Given the description of an element on the screen output the (x, y) to click on. 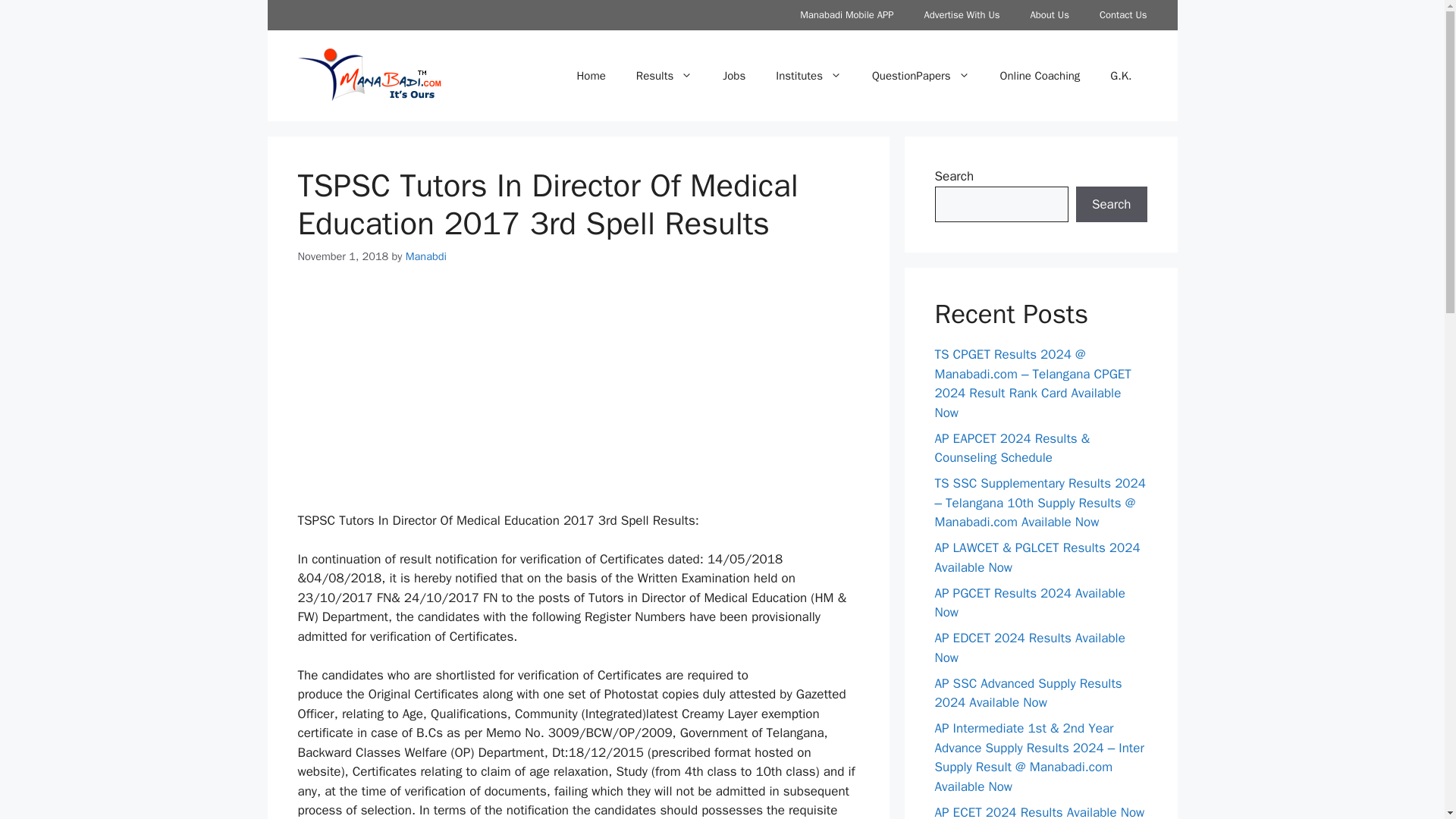
G.K. (1120, 75)
Advertisement (578, 397)
Manabdi (426, 255)
Jobs (733, 75)
About Us (1048, 15)
Results (664, 75)
Manabadi Mobile APP (846, 15)
QuestionPapers (921, 75)
Contact Us (1122, 15)
Institutes (808, 75)
